Given the description of an element on the screen output the (x, y) to click on. 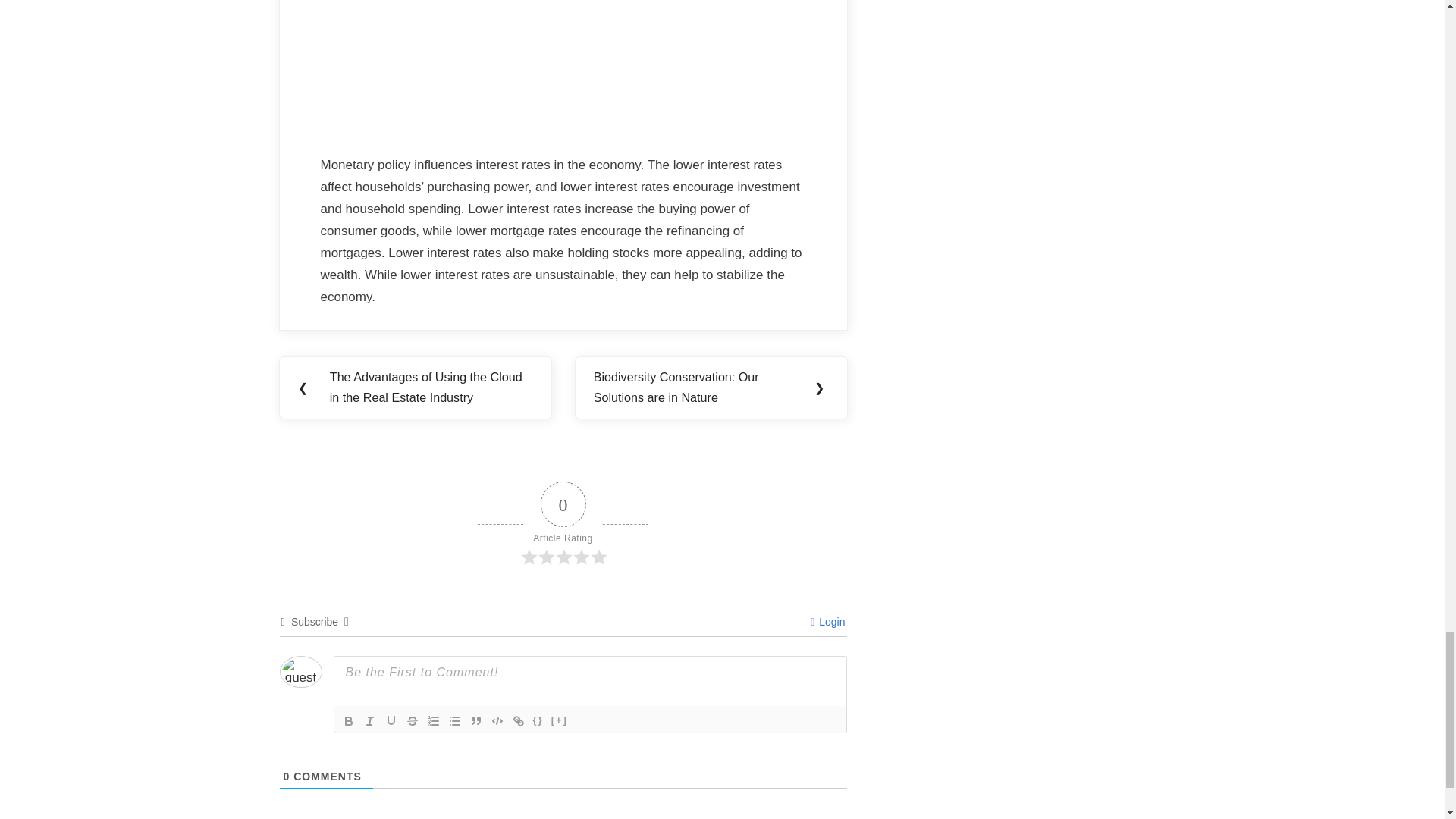
Bold (348, 720)
Code Block (497, 720)
bullet (454, 720)
Spoiler (559, 720)
Login (827, 621)
Unordered List (454, 720)
ordered (433, 720)
Underline (390, 720)
Italic (369, 720)
Strike (412, 720)
